Given the description of an element on the screen output the (x, y) to click on. 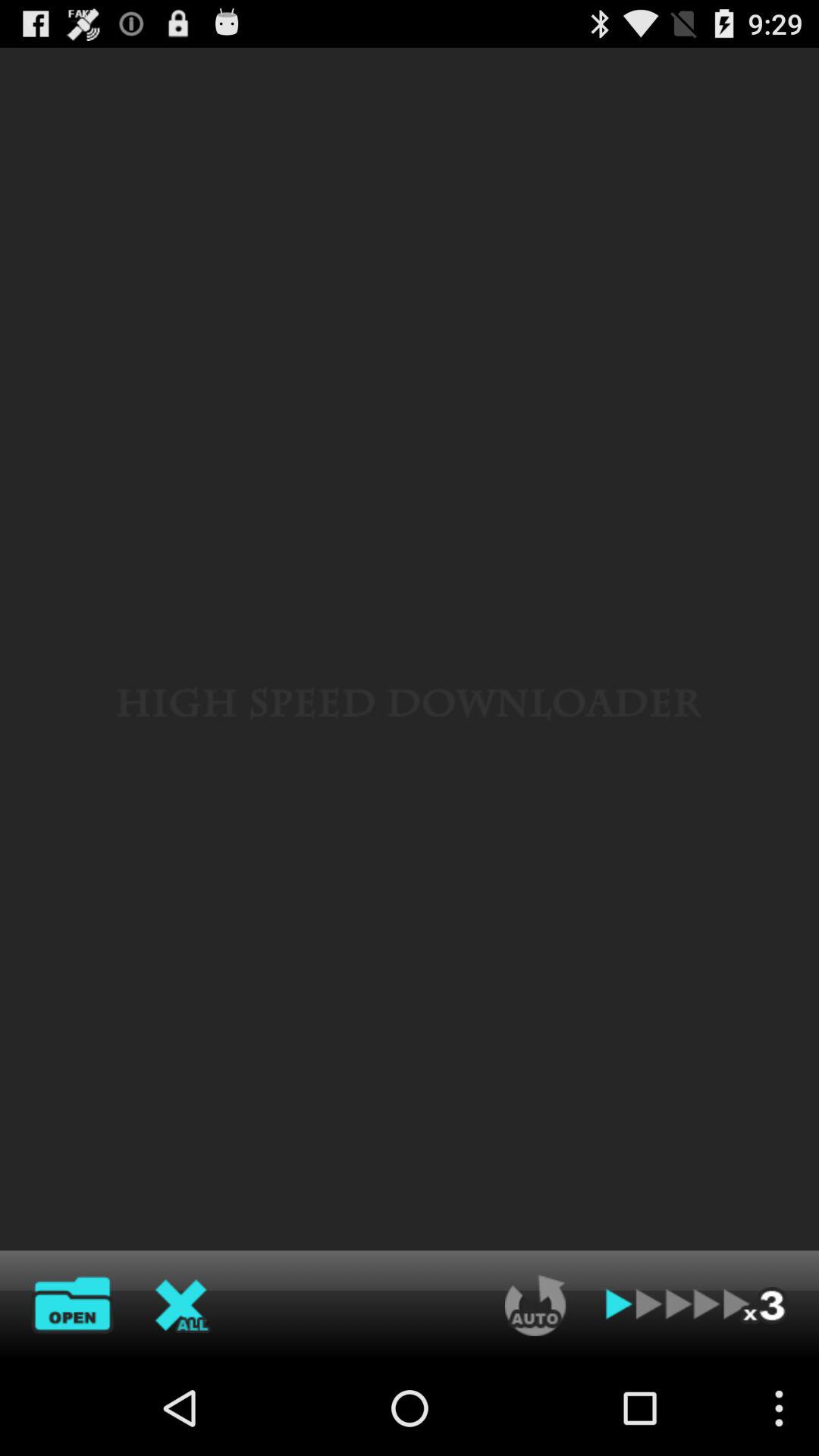
click to close option (182, 1305)
